Given the description of an element on the screen output the (x, y) to click on. 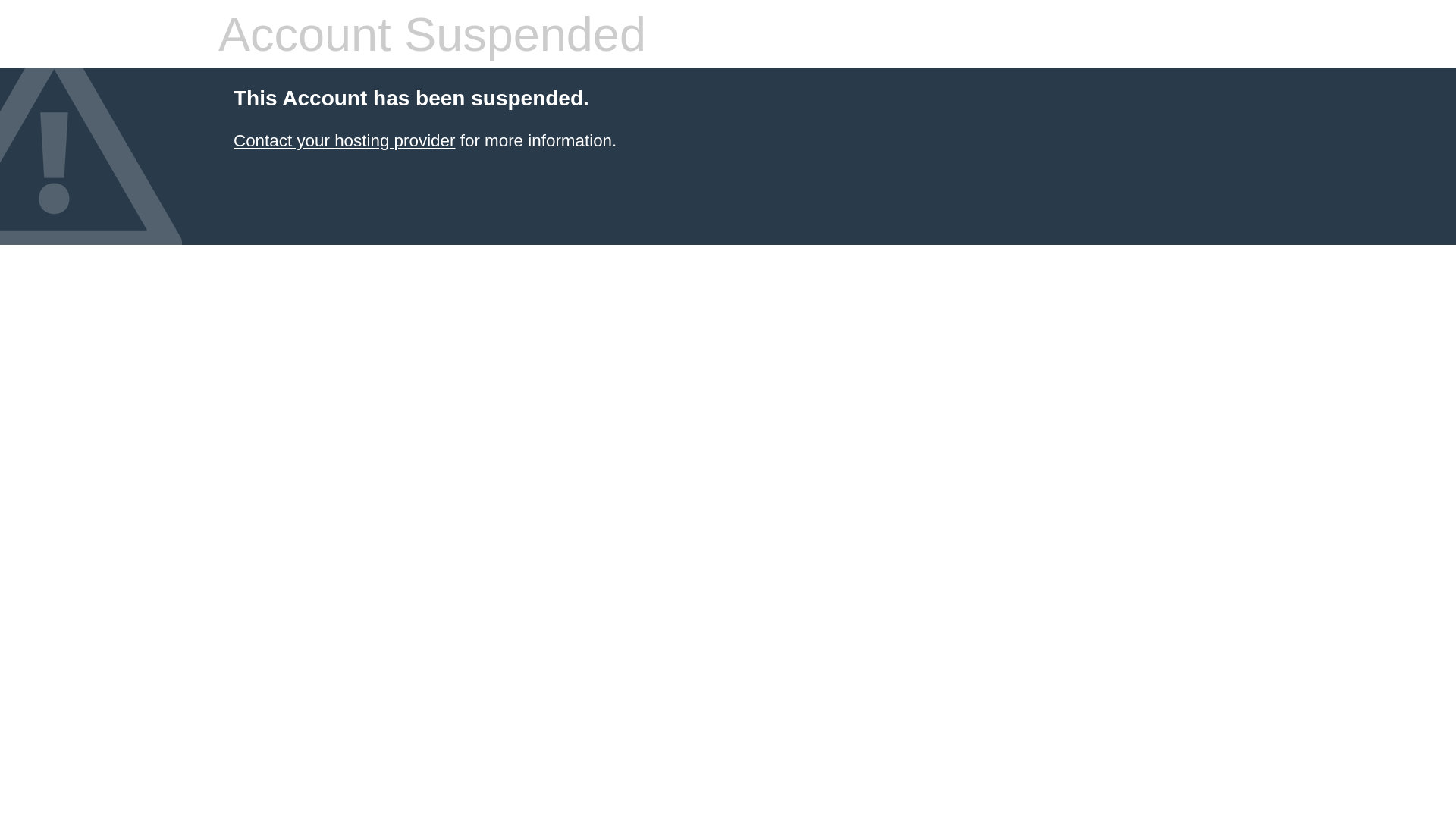
Contact your hosting provider Element type: text (344, 140)
